Given the description of an element on the screen output the (x, y) to click on. 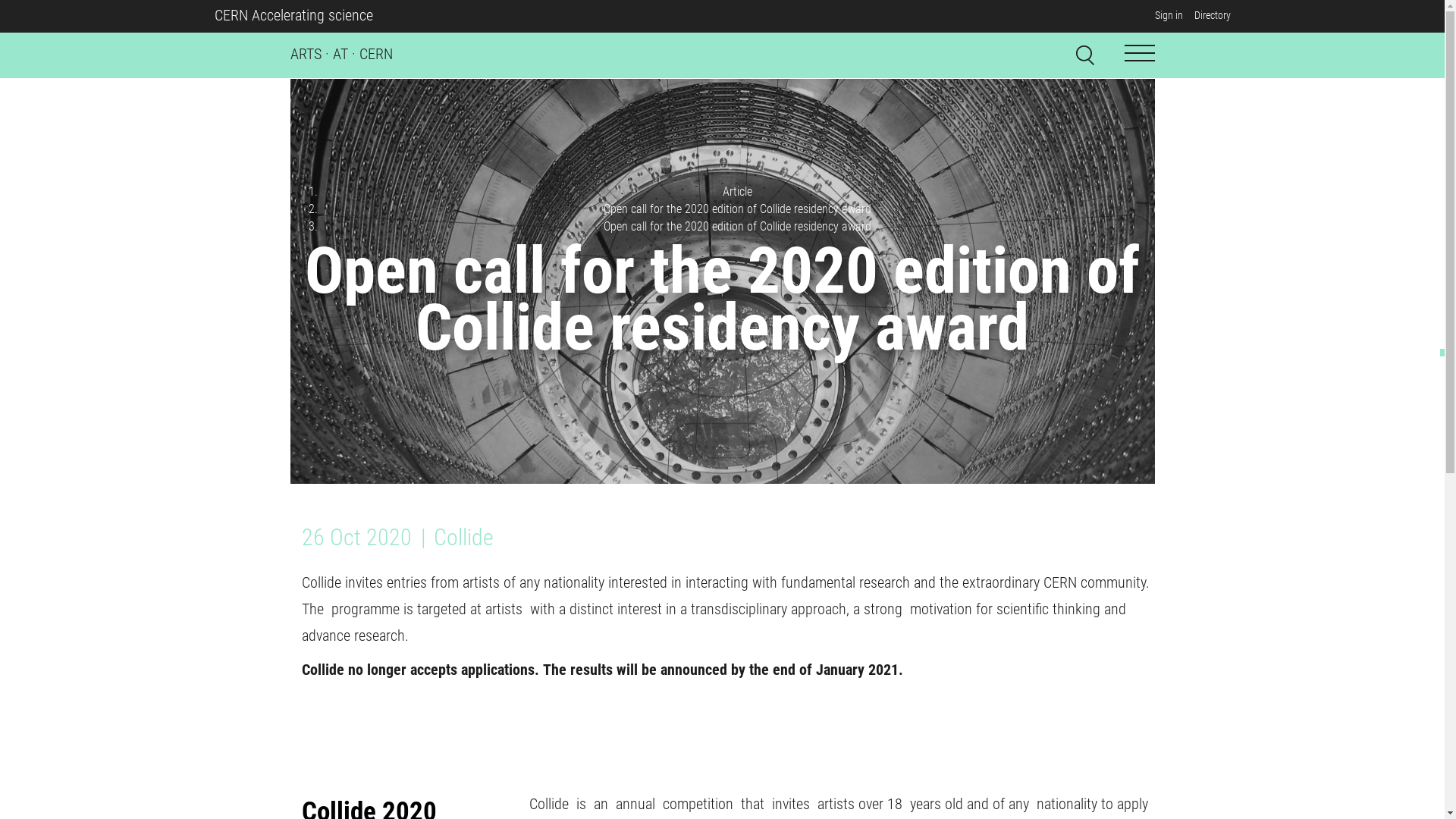
Apply Element type: text (1142, 51)
Directory Element type: text (1211, 15)
Sign in Element type: text (1168, 15)
CERN Accelerating science Element type: text (292, 15)
Skip to main content Element type: text (0, 32)
